Given the description of an element on the screen output the (x, y) to click on. 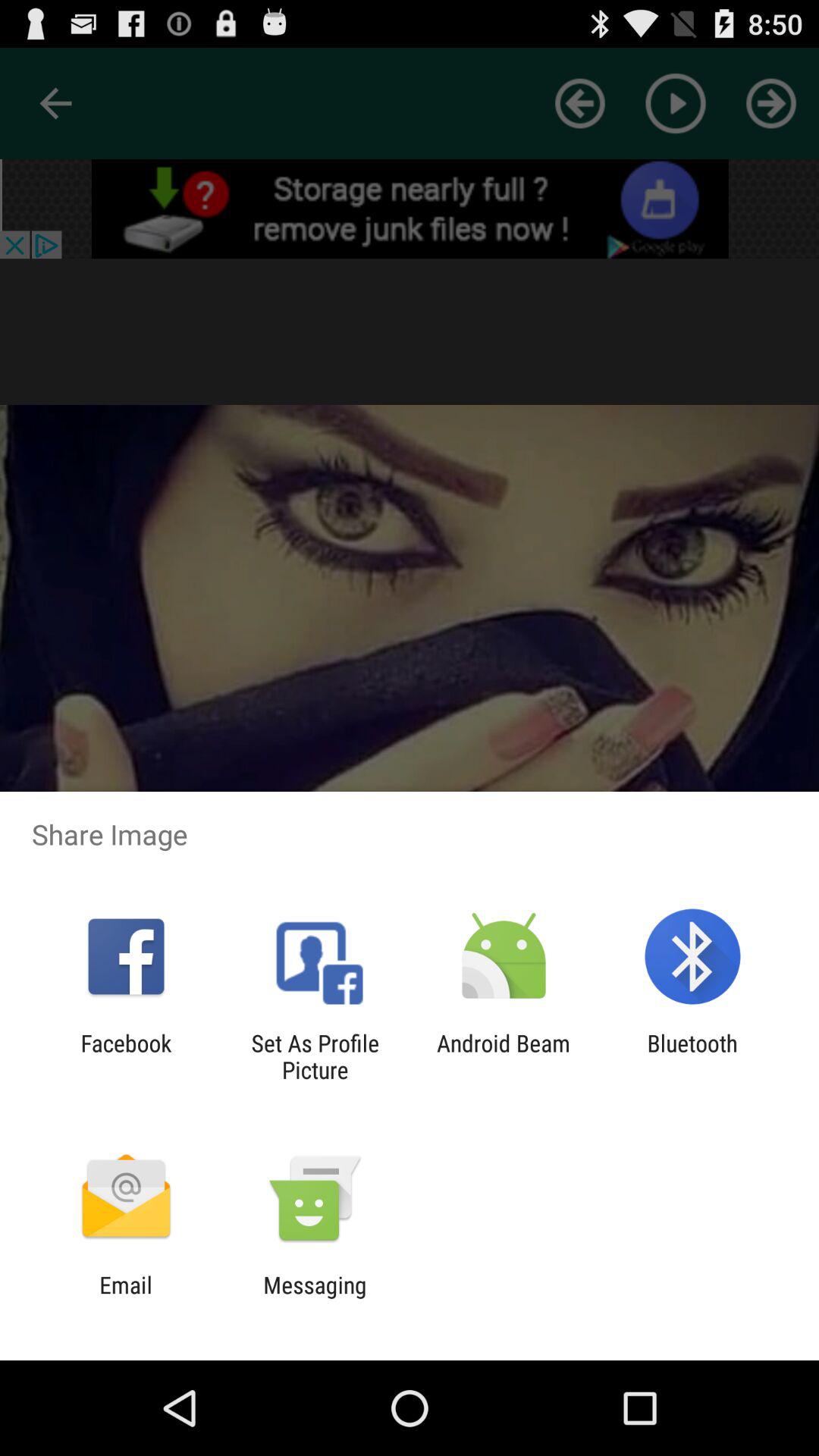
tap the icon to the right of facebook (314, 1056)
